Given the description of an element on the screen output the (x, y) to click on. 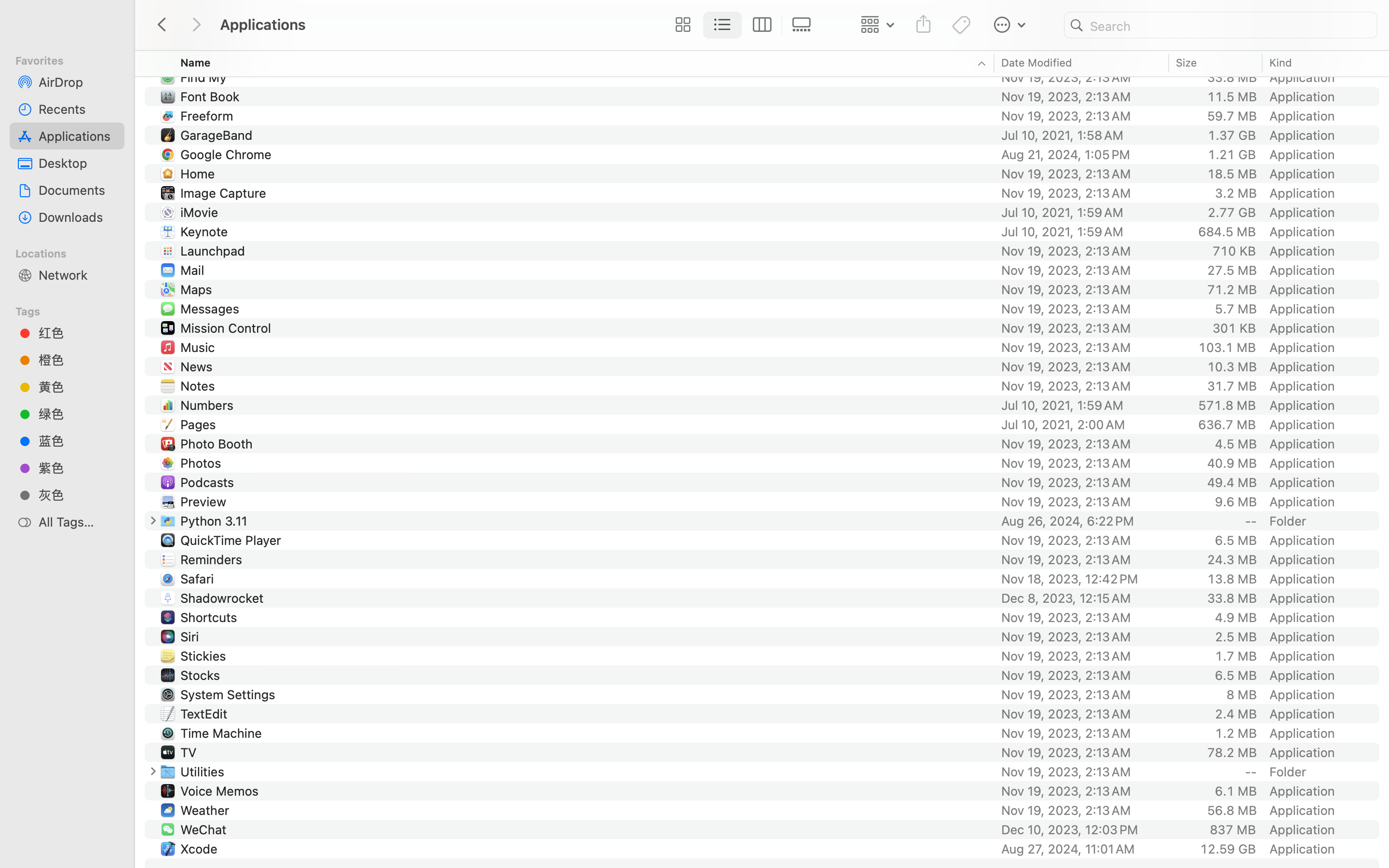
Weather Element type: AXTextField (206, 809)
QuickTime Player Element type: AXTextField (232, 539)
Application Element type: AXStaticText (1303, 38)
Contacts Element type: AXTextField (208, 19)
Home Element type: AXTextField (199, 173)
